Given the description of an element on the screen output the (x, y) to click on. 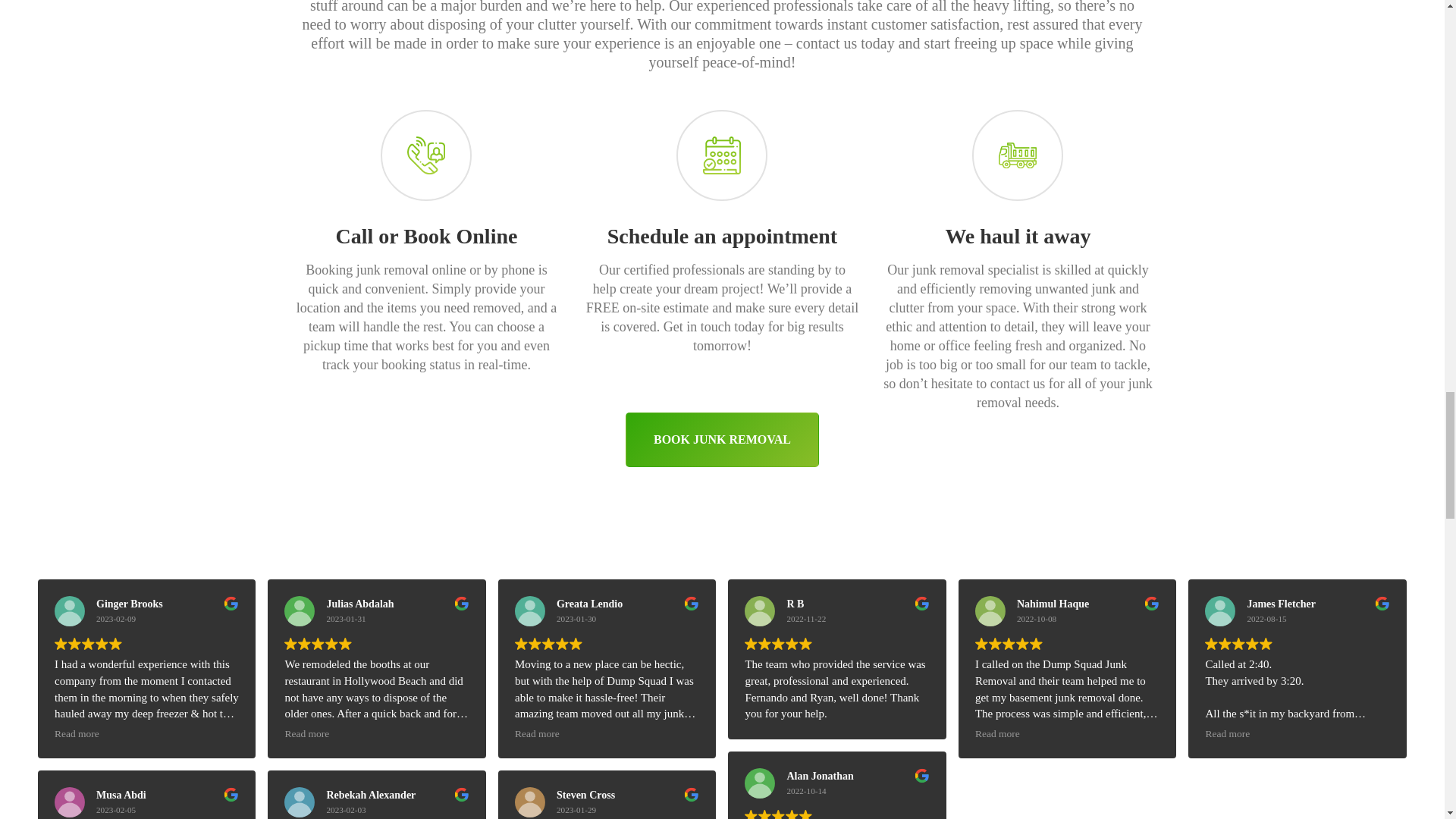
BOOK JUNK REMOVAL (722, 439)
